Given the description of an element on the screen output the (x, y) to click on. 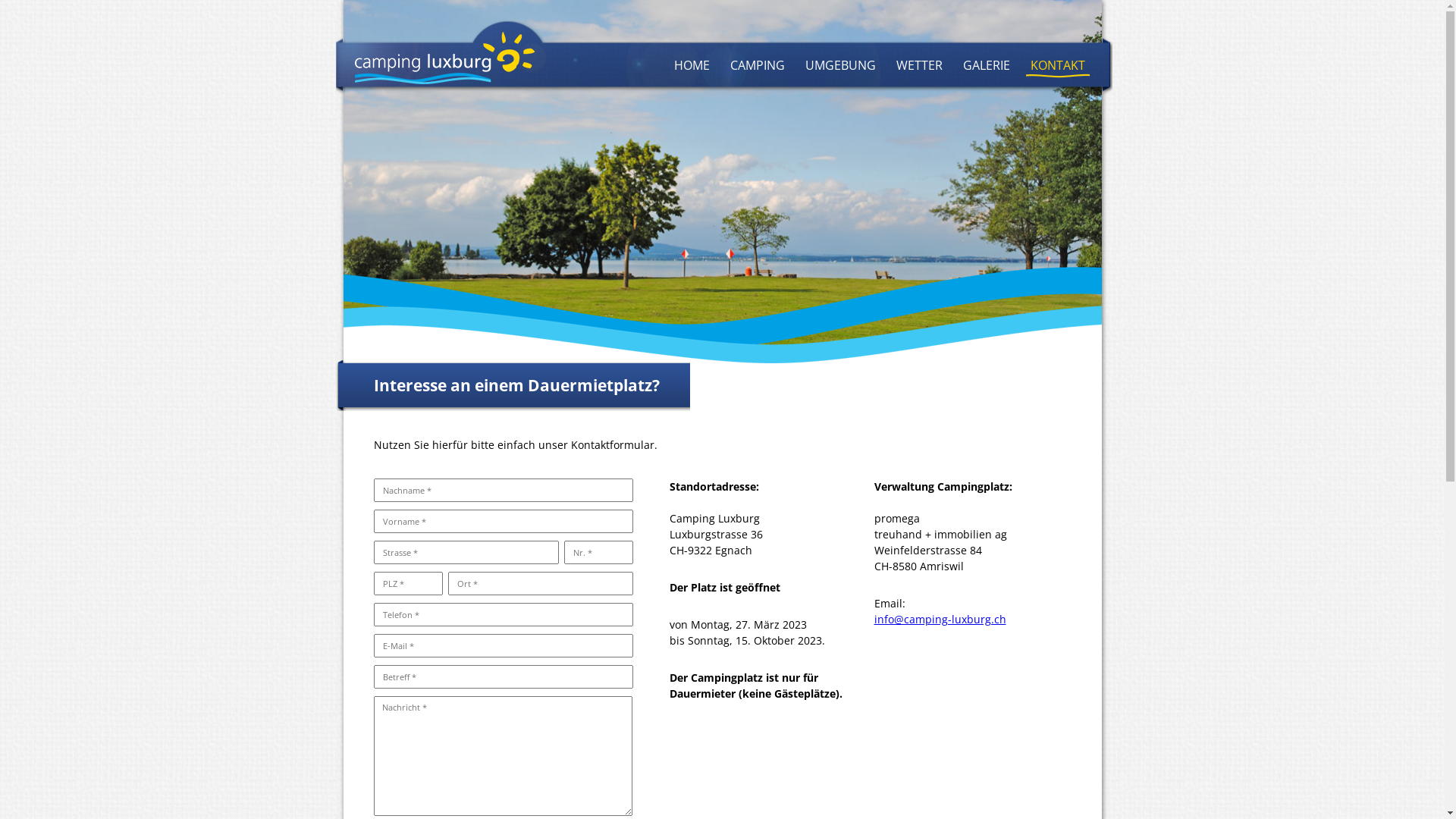
KONTAKT Element type: text (1056, 64)
GALERIE Element type: text (986, 64)
WETTER Element type: text (919, 64)
HOME Element type: text (691, 64)
Startseite Element type: hover (540, 58)
CAMPING Element type: text (756, 64)
info@camping-luxburg.ch Element type: text (939, 618)
UMGEBUNG Element type: text (840, 64)
